Given the description of an element on the screen output the (x, y) to click on. 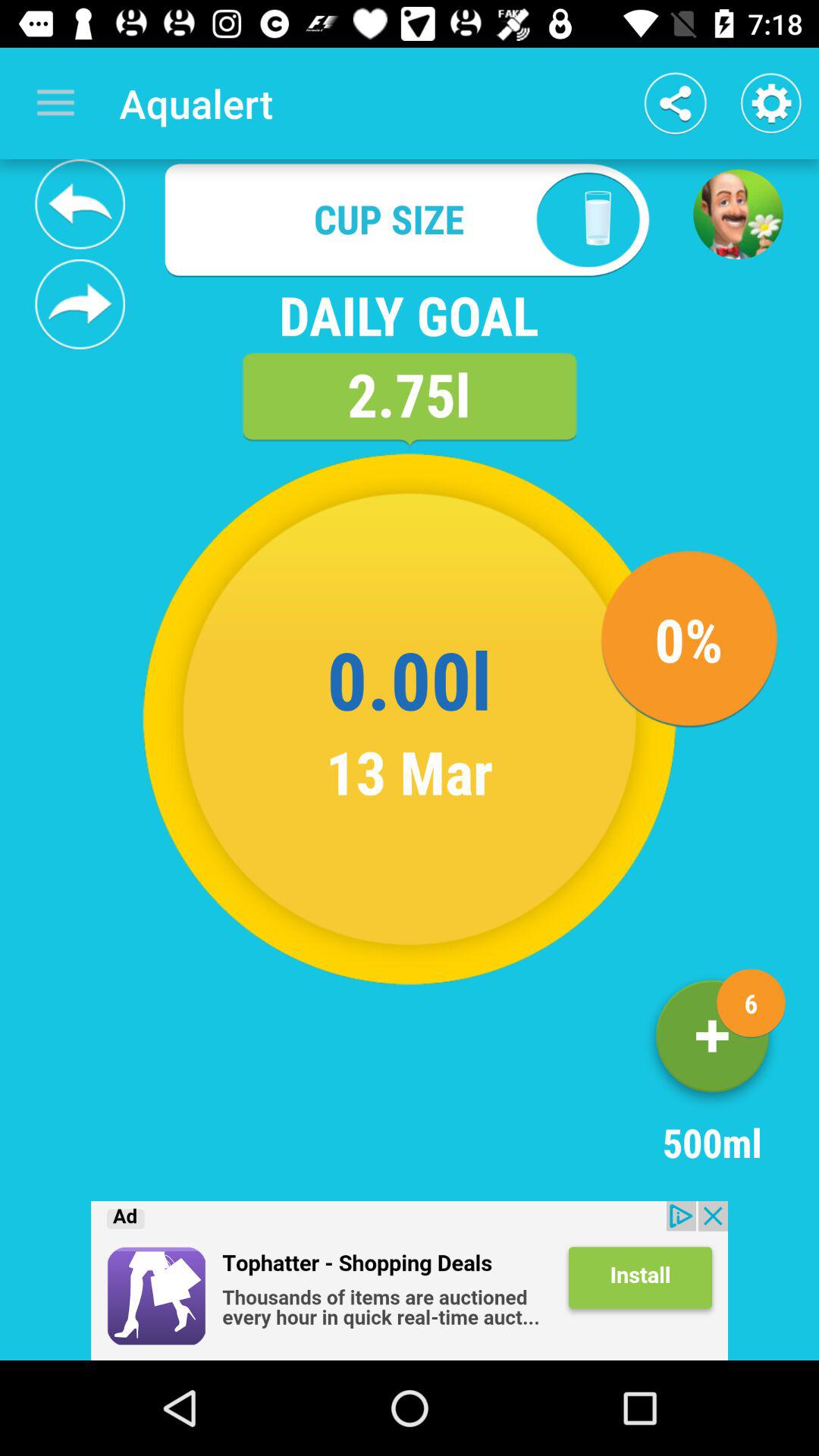
add new (712, 1041)
